Given the description of an element on the screen output the (x, y) to click on. 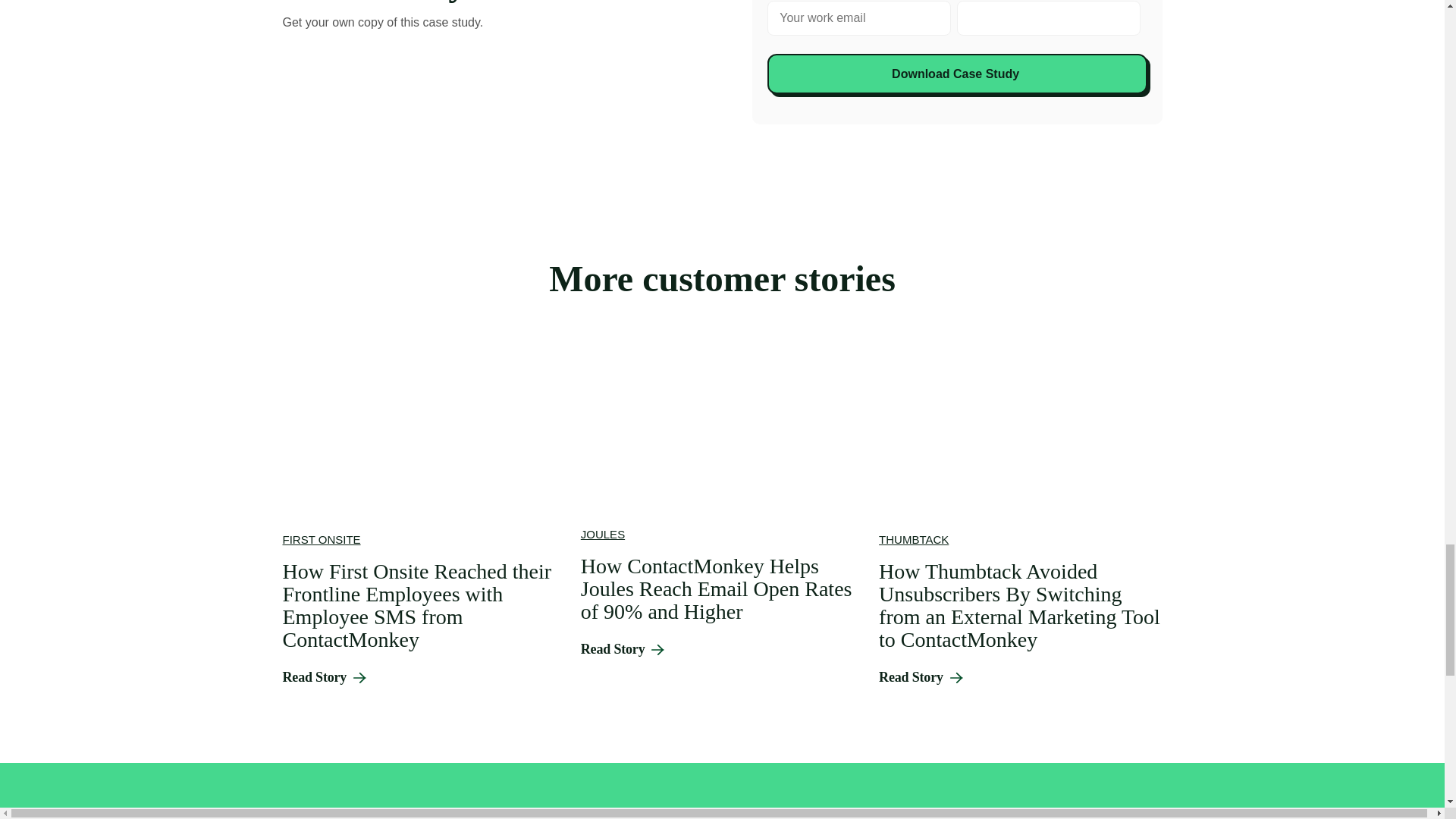
Download Case Study  (957, 74)
